Given the description of an element on the screen output the (x, y) to click on. 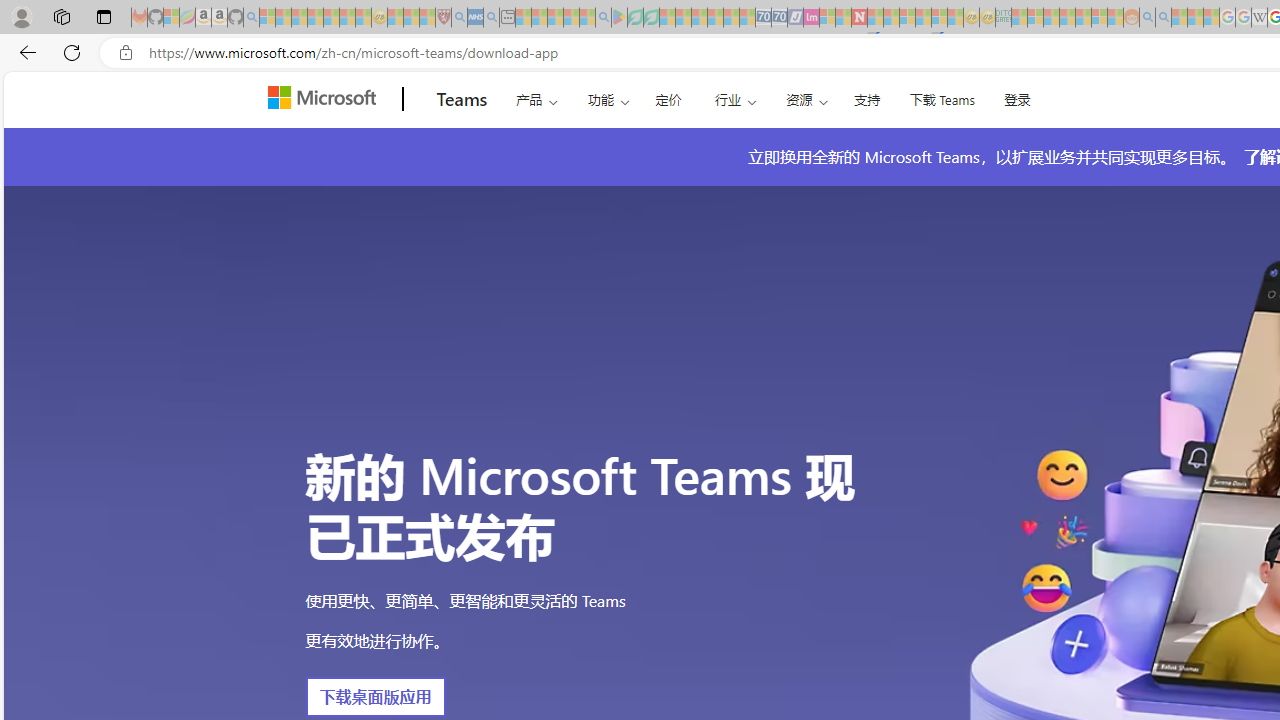
Utah sues federal government - Search - Sleeping (1163, 17)
utah sues federal government - Search - Sleeping (491, 17)
